Given the description of an element on the screen output the (x, y) to click on. 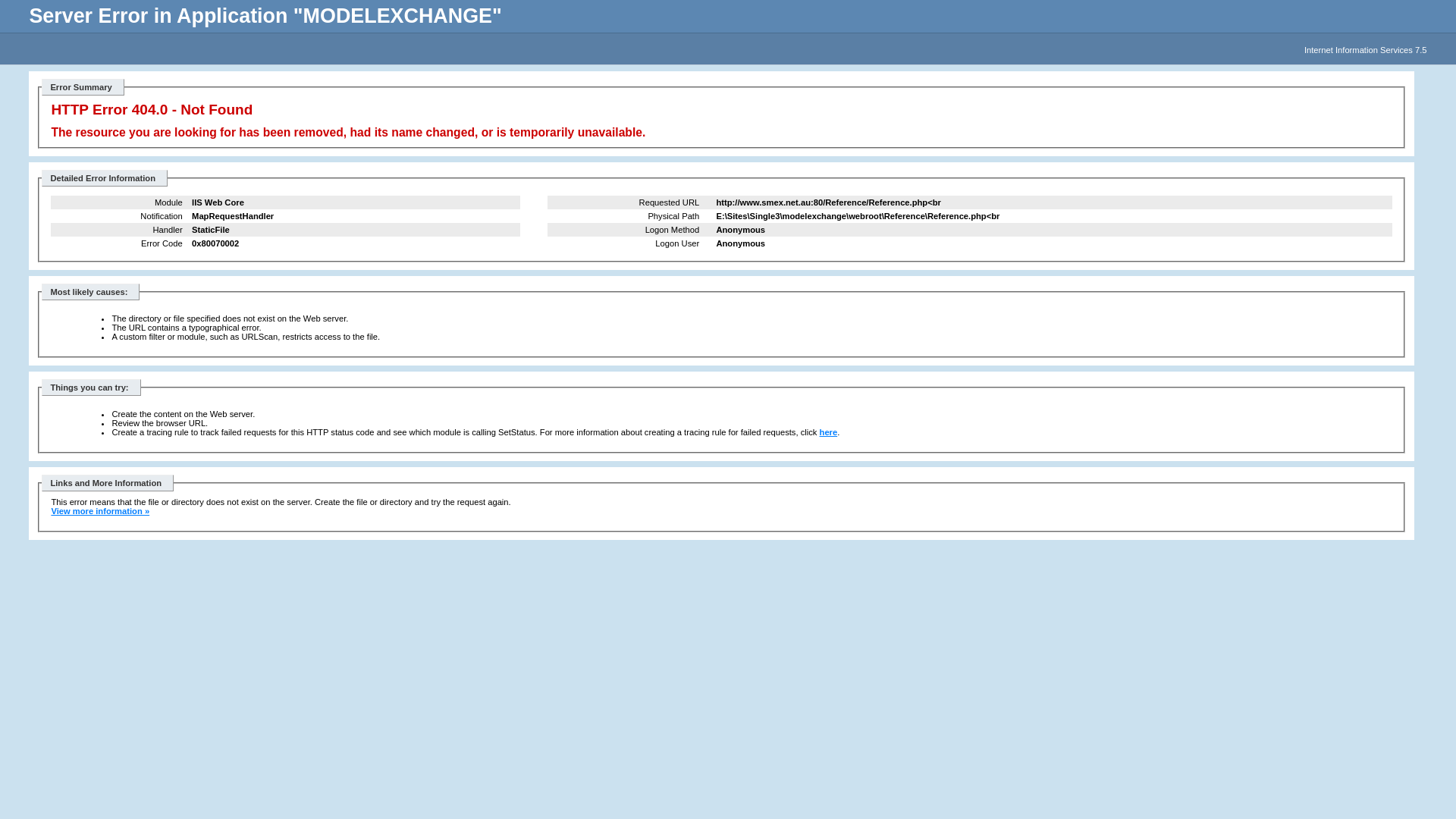
here Element type: text (828, 431)
